Given the description of an element on the screen output the (x, y) to click on. 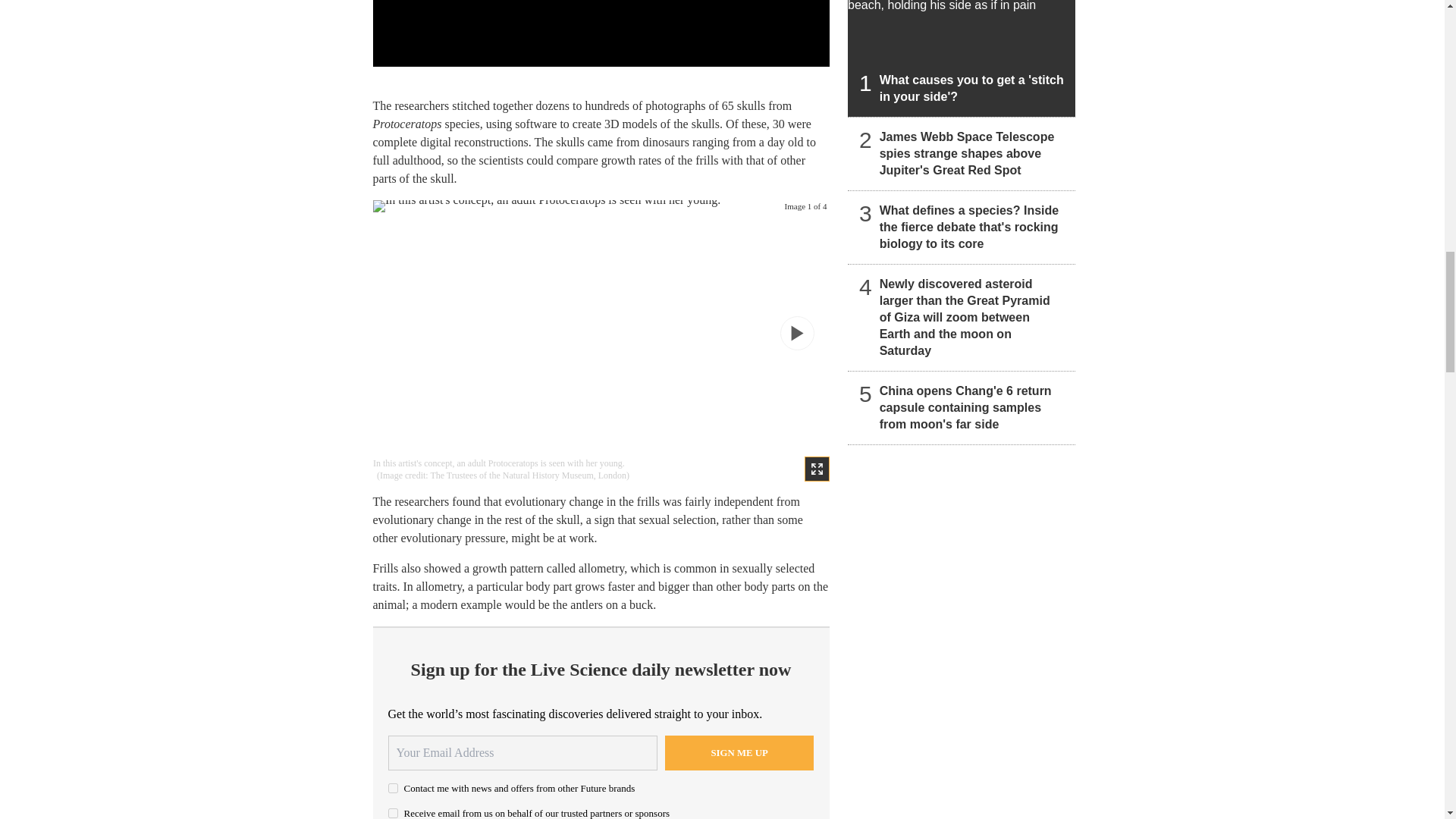
What causes you to get a 'stitch in your side'? (961, 58)
on (392, 787)
Sign me up (739, 752)
on (392, 813)
